Given the description of an element on the screen output the (x, y) to click on. 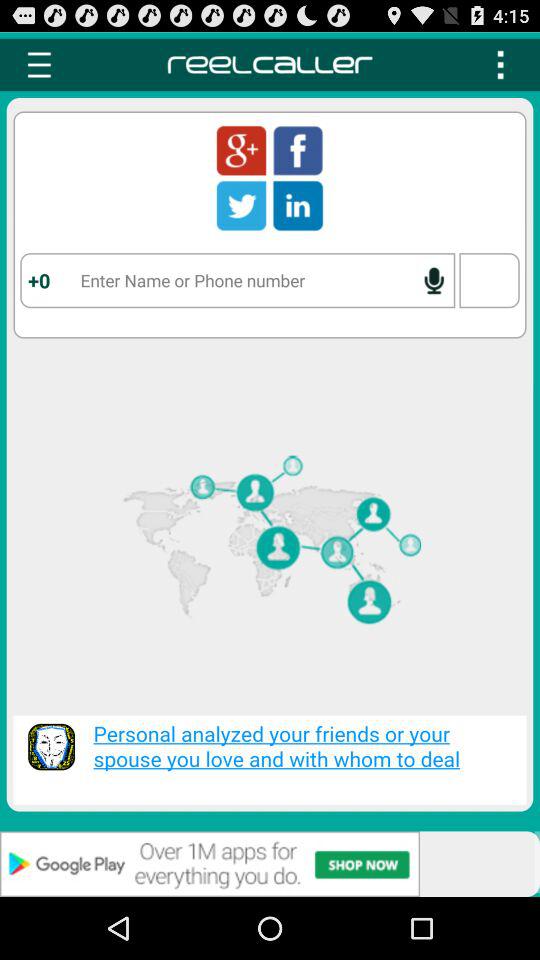
advertisement (270, 864)
